Given the description of an element on the screen output the (x, y) to click on. 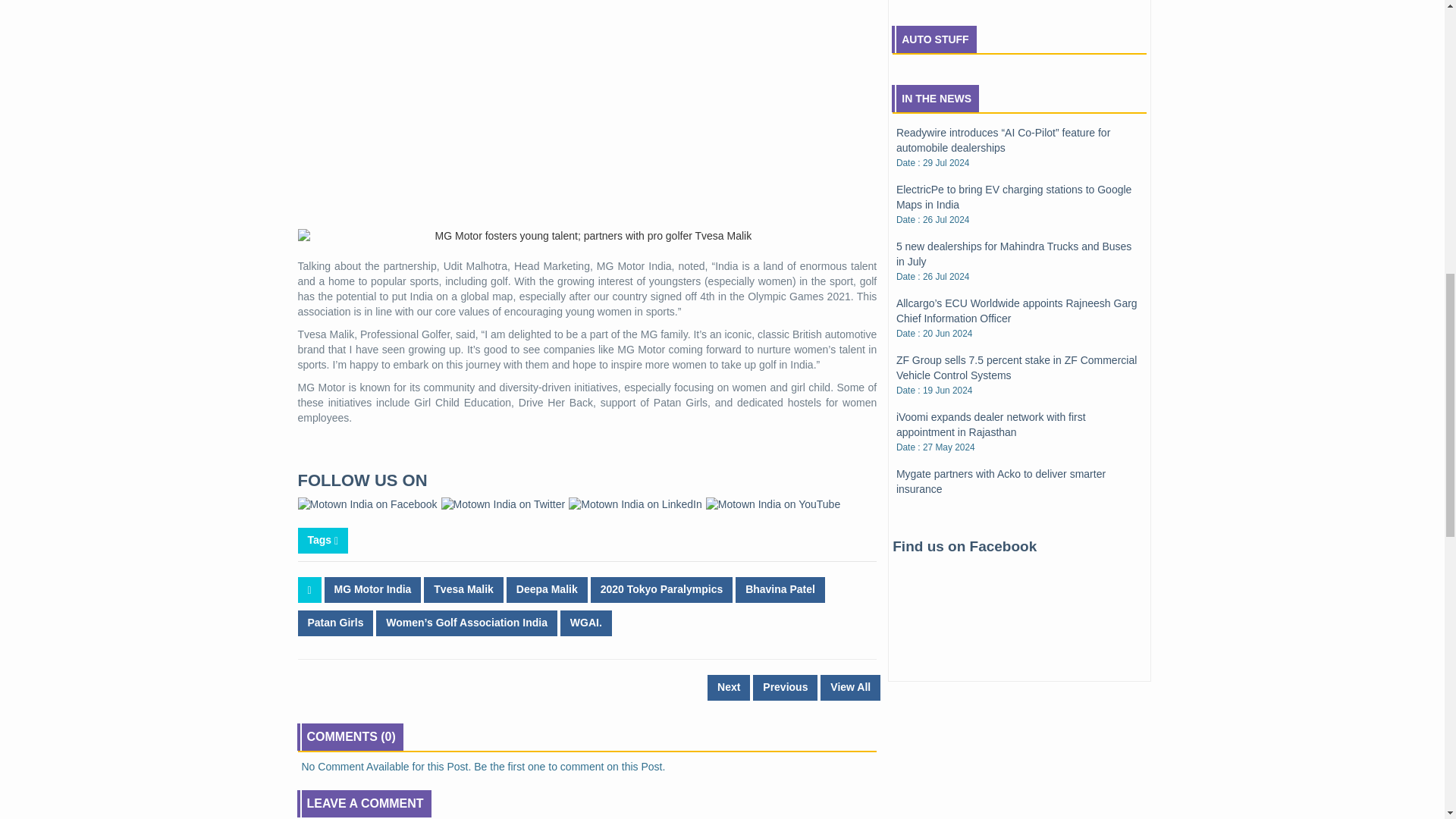
MG Motor India (373, 589)
Deepa Malik (547, 589)
2020 Tokyo Paralympics (662, 589)
Tvesa Malik (463, 589)
